Given the description of an element on the screen output the (x, y) to click on. 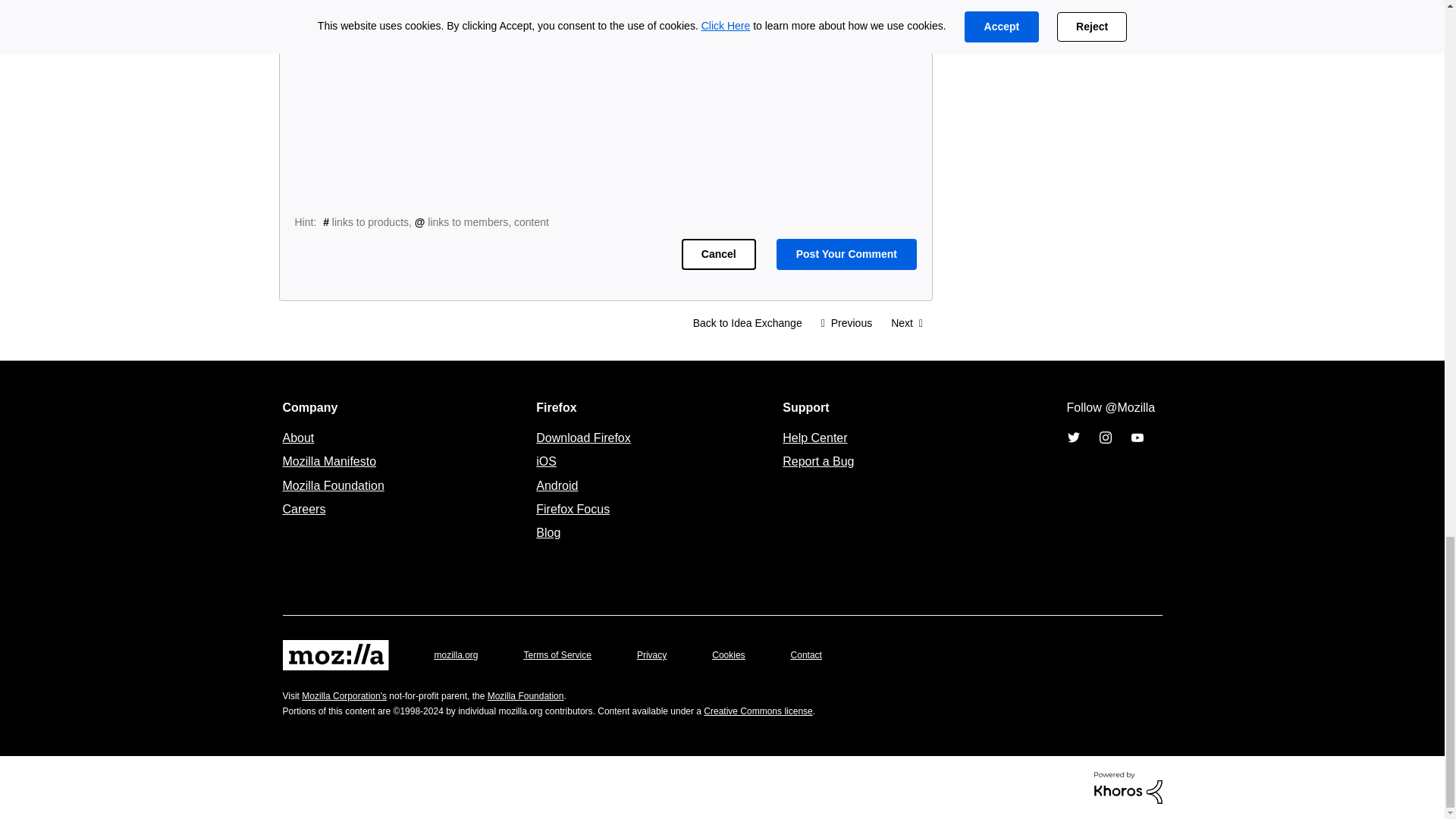
Post Your Comment (846, 254)
Cancel (718, 254)
